Given the description of an element on the screen output the (x, y) to click on. 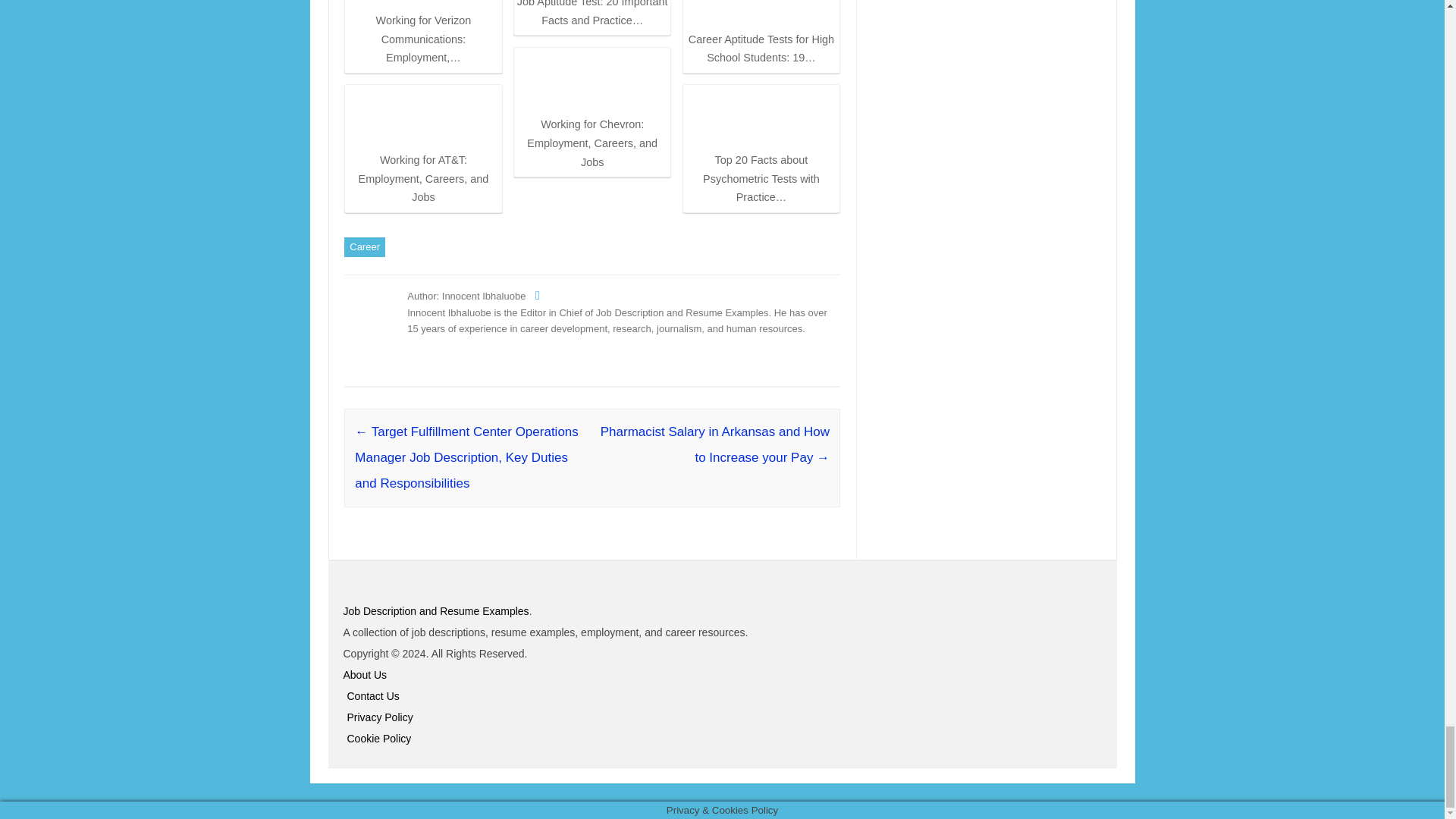
Working for Chevron: Employment, Careers, and Jobs (592, 110)
Career (364, 247)
Working for Chevron: Employment, Careers, and Jobs (592, 81)
